Given the description of an element on the screen output the (x, y) to click on. 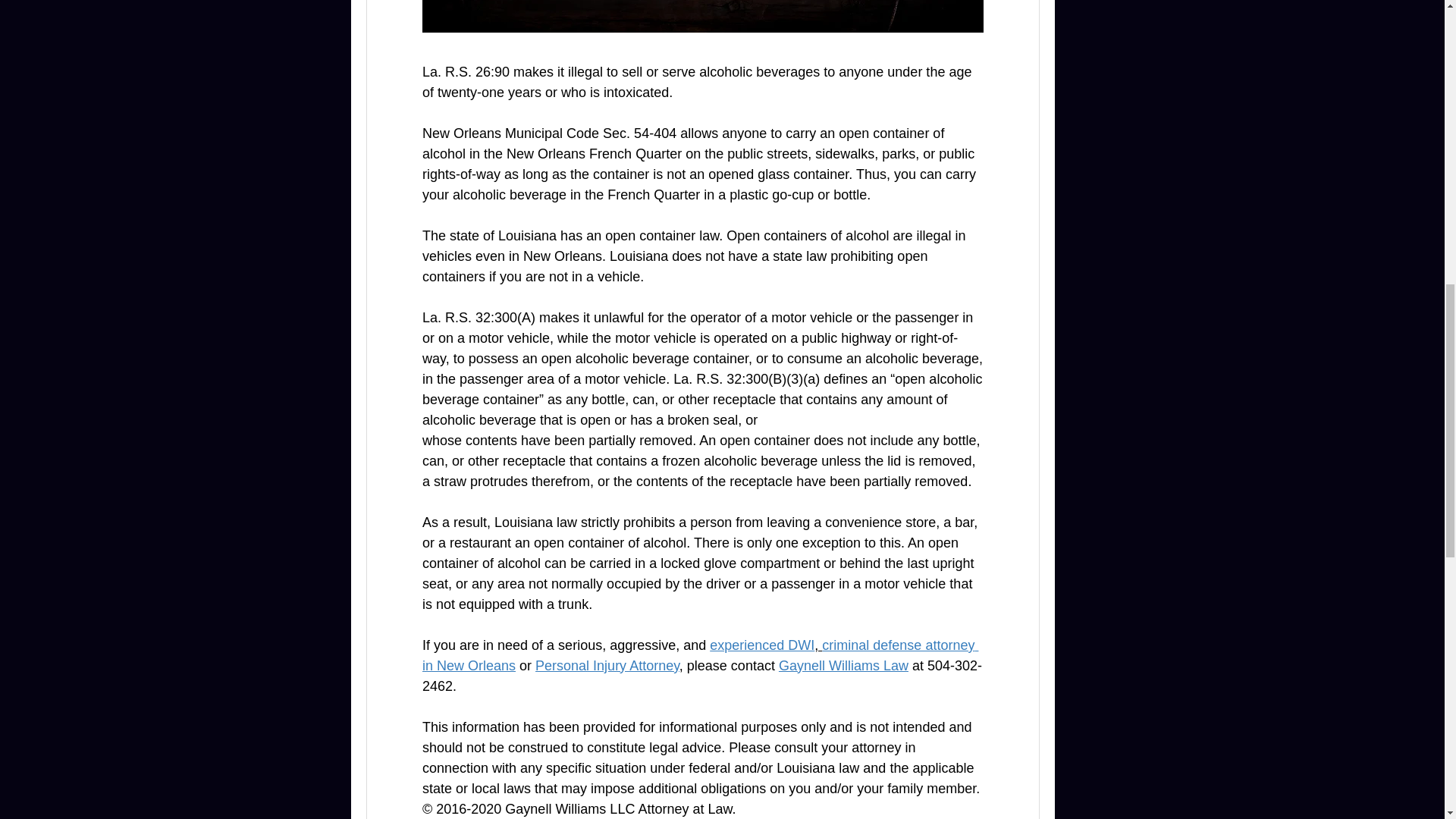
experienced DWI (761, 645)
Personal Injury Attorney (607, 665)
Gaynell Williams Law (842, 665)
criminal defense attorney in New Orleans (699, 655)
